Given the description of an element on the screen output the (x, y) to click on. 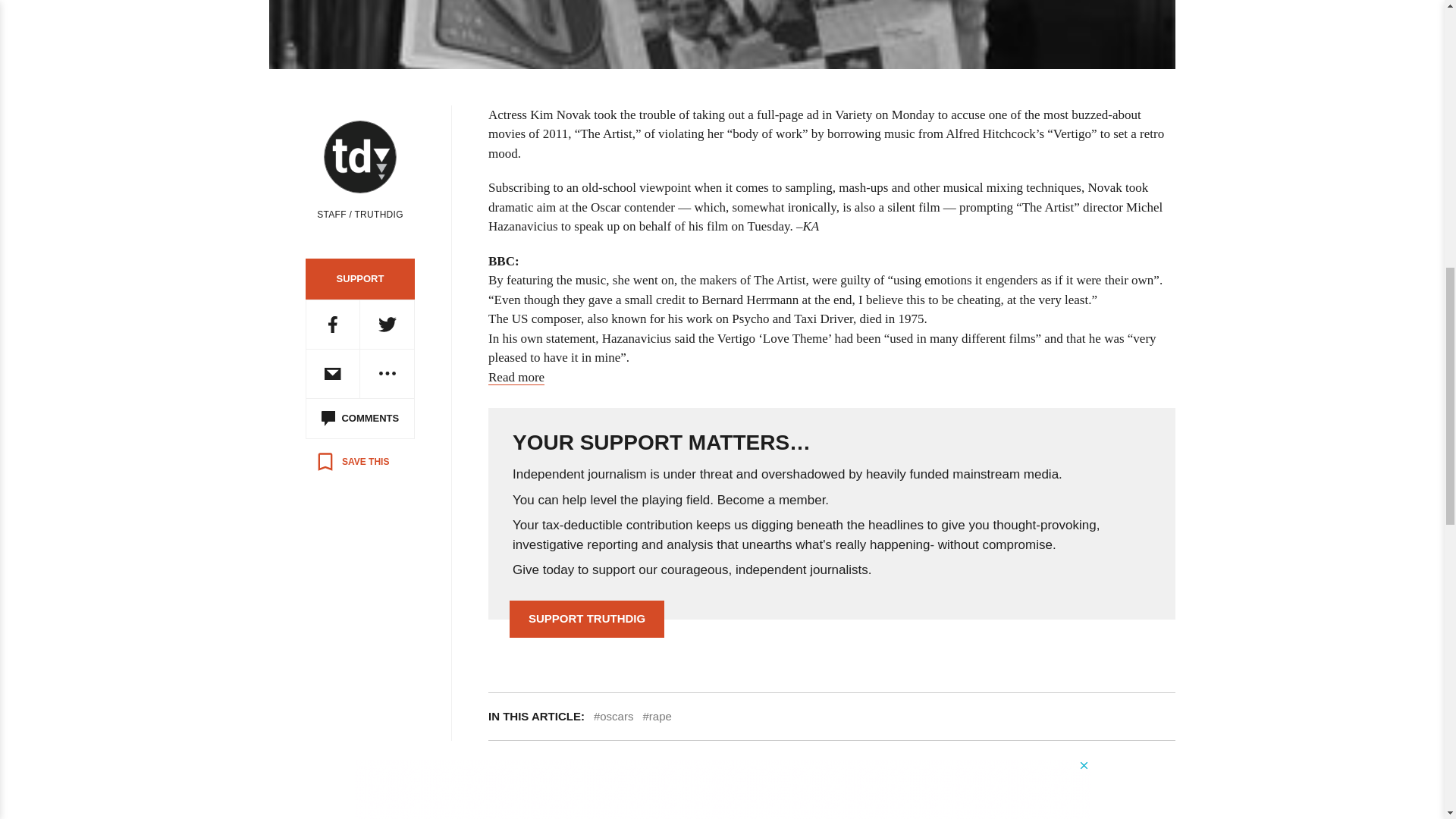
Save to read later (351, 461)
Read more (515, 377)
3rd party ad content (722, 789)
